Given the description of an element on the screen output the (x, y) to click on. 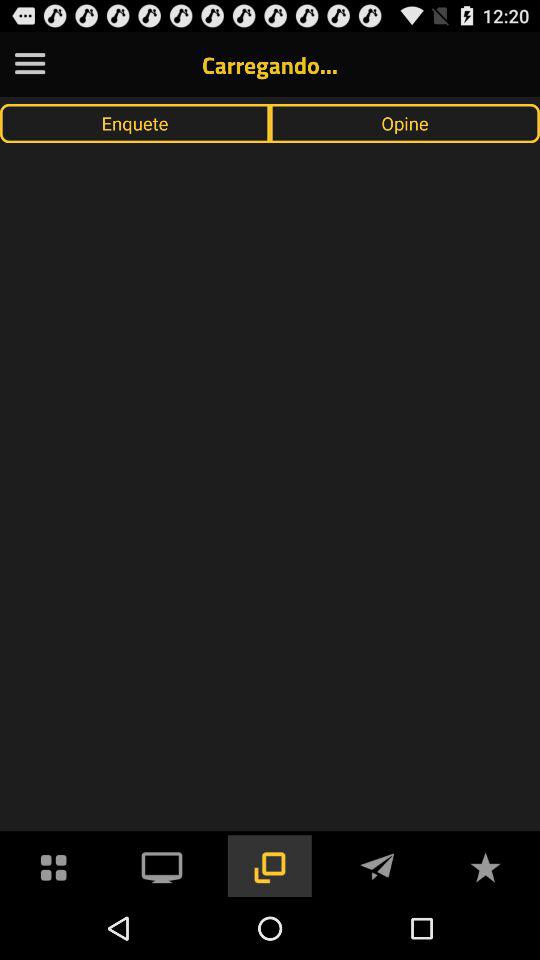
click item next to opine icon (135, 123)
